Given the description of an element on the screen output the (x, y) to click on. 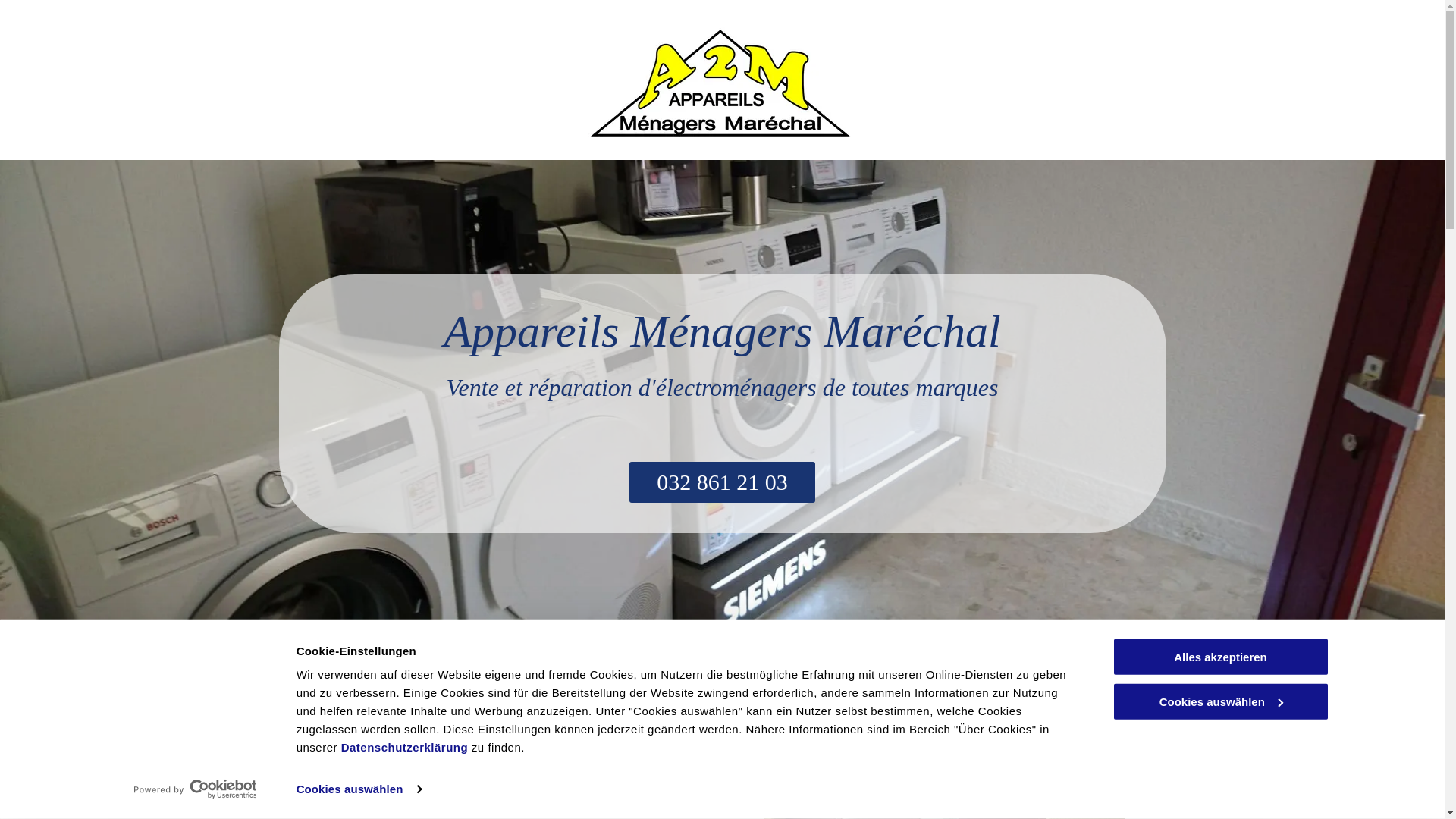
Alles akzeptieren Element type: text (1219, 656)
032 861 21 03 Element type: text (722, 481)
